Given the description of an element on the screen output the (x, y) to click on. 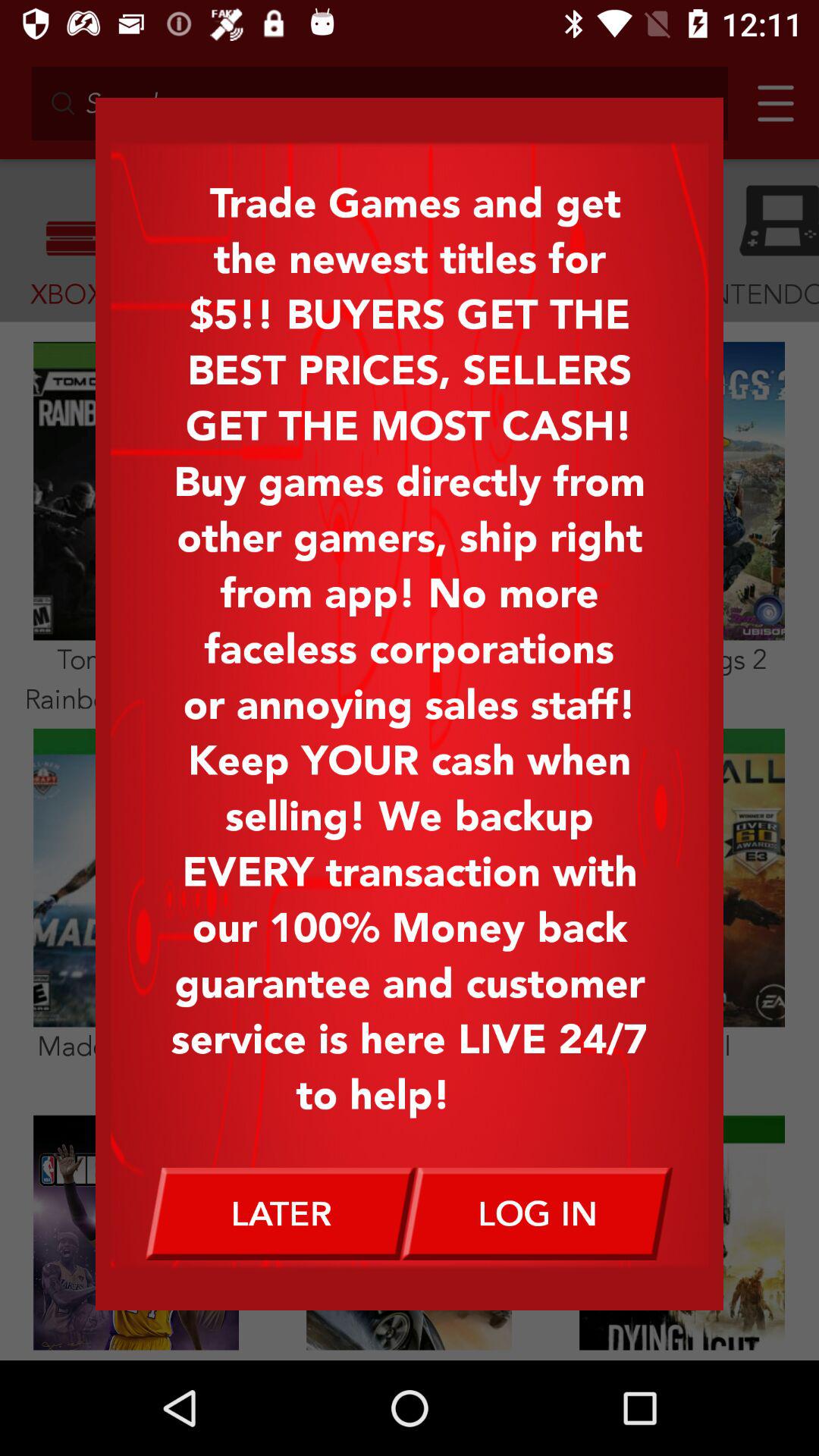
press later icon (280, 1213)
